Given the description of an element on the screen output the (x, y) to click on. 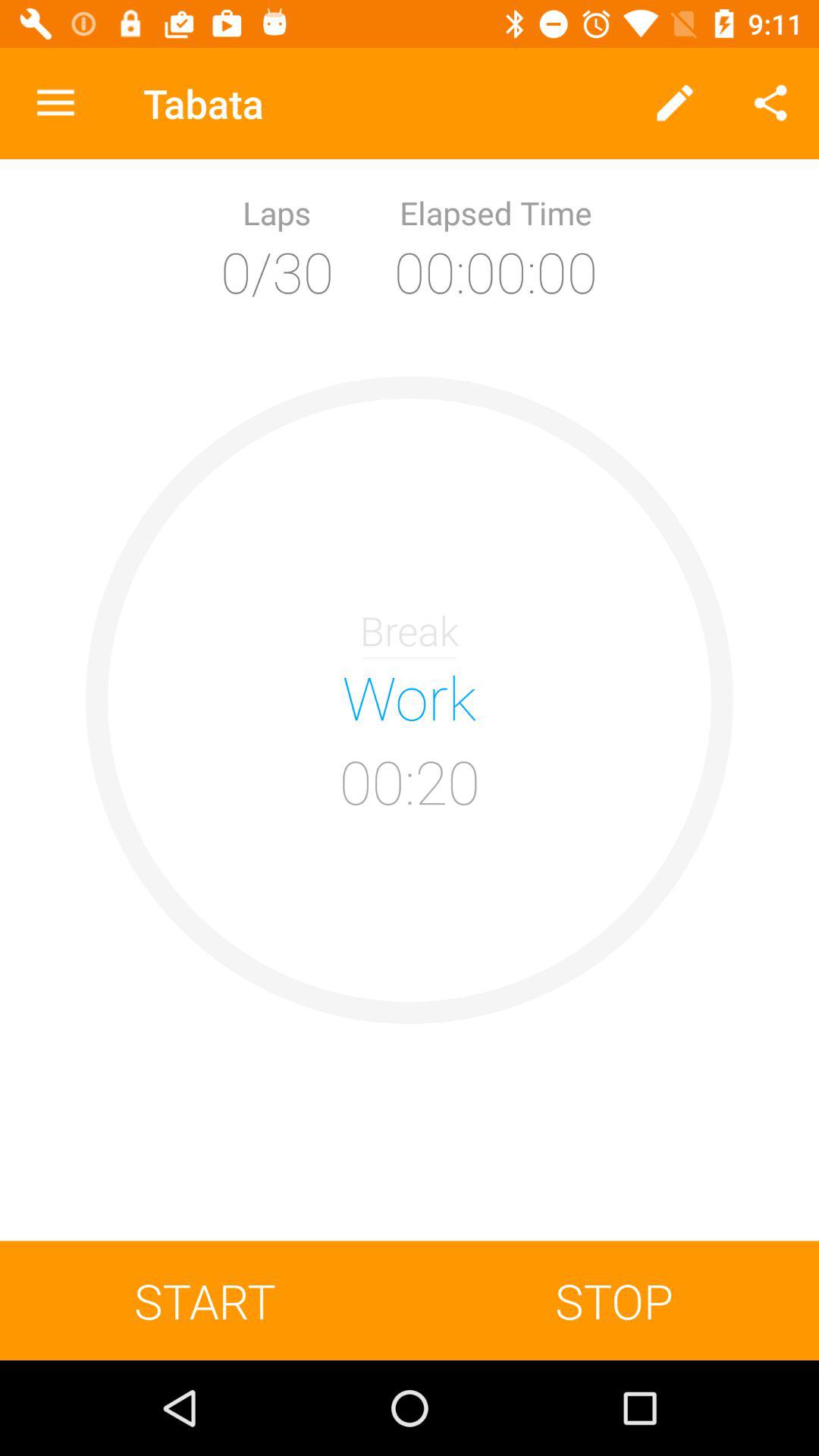
tap item next to the stop (204, 1300)
